Given the description of an element on the screen output the (x, y) to click on. 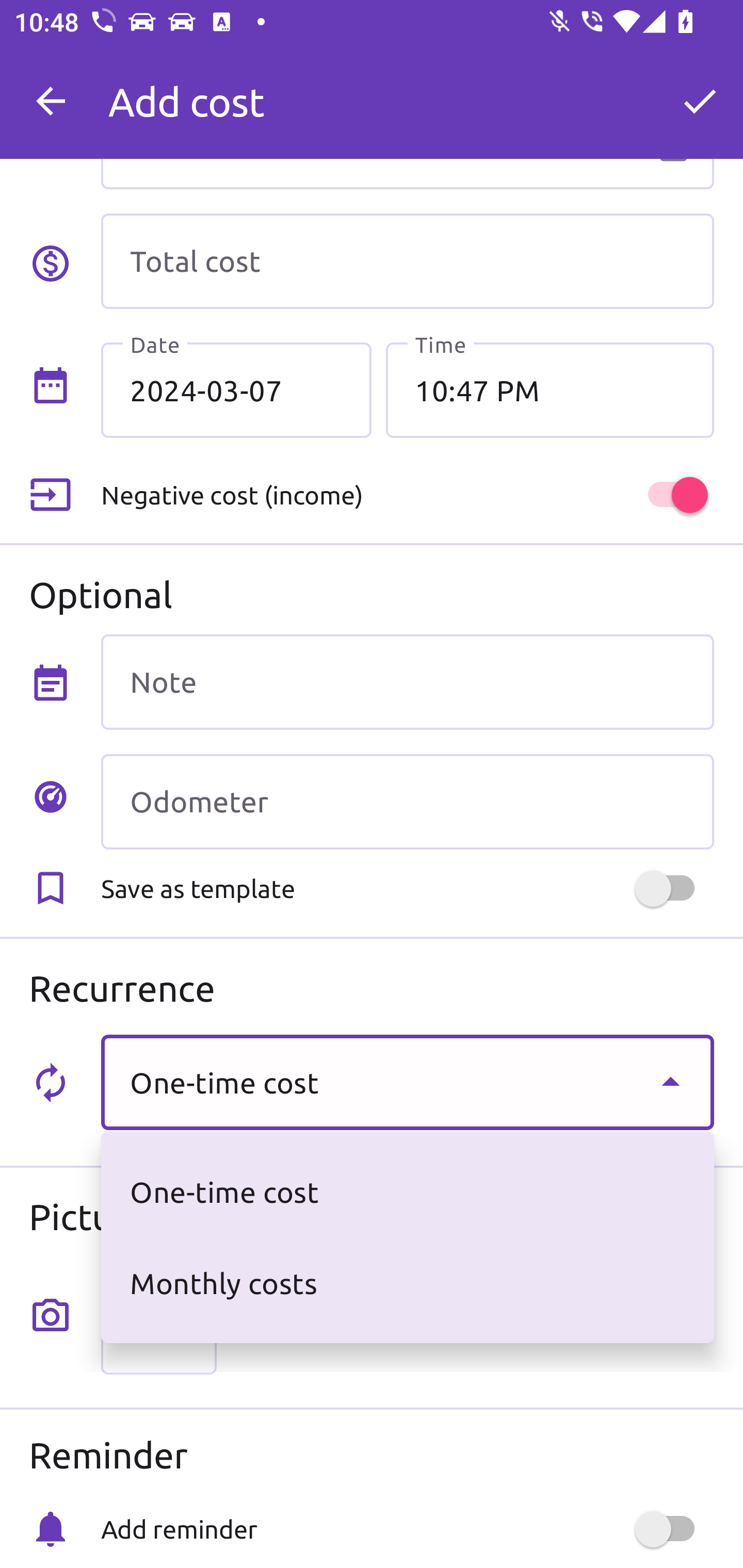
M My Car 0 km (407, 92)
Navigate up (50, 101)
OK (699, 101)
Total cost  (407, 260)
2024-03-07 (236, 389)
10:47 PM (549, 389)
Negative cost (income) (407, 494)
Note (407, 682)
Odometer (407, 801)
Save as template (407, 887)
One-time cost (407, 1082)
Show dropdown menu (670, 1081)
Add reminder (407, 1529)
